Given the description of an element on the screen output the (x, y) to click on. 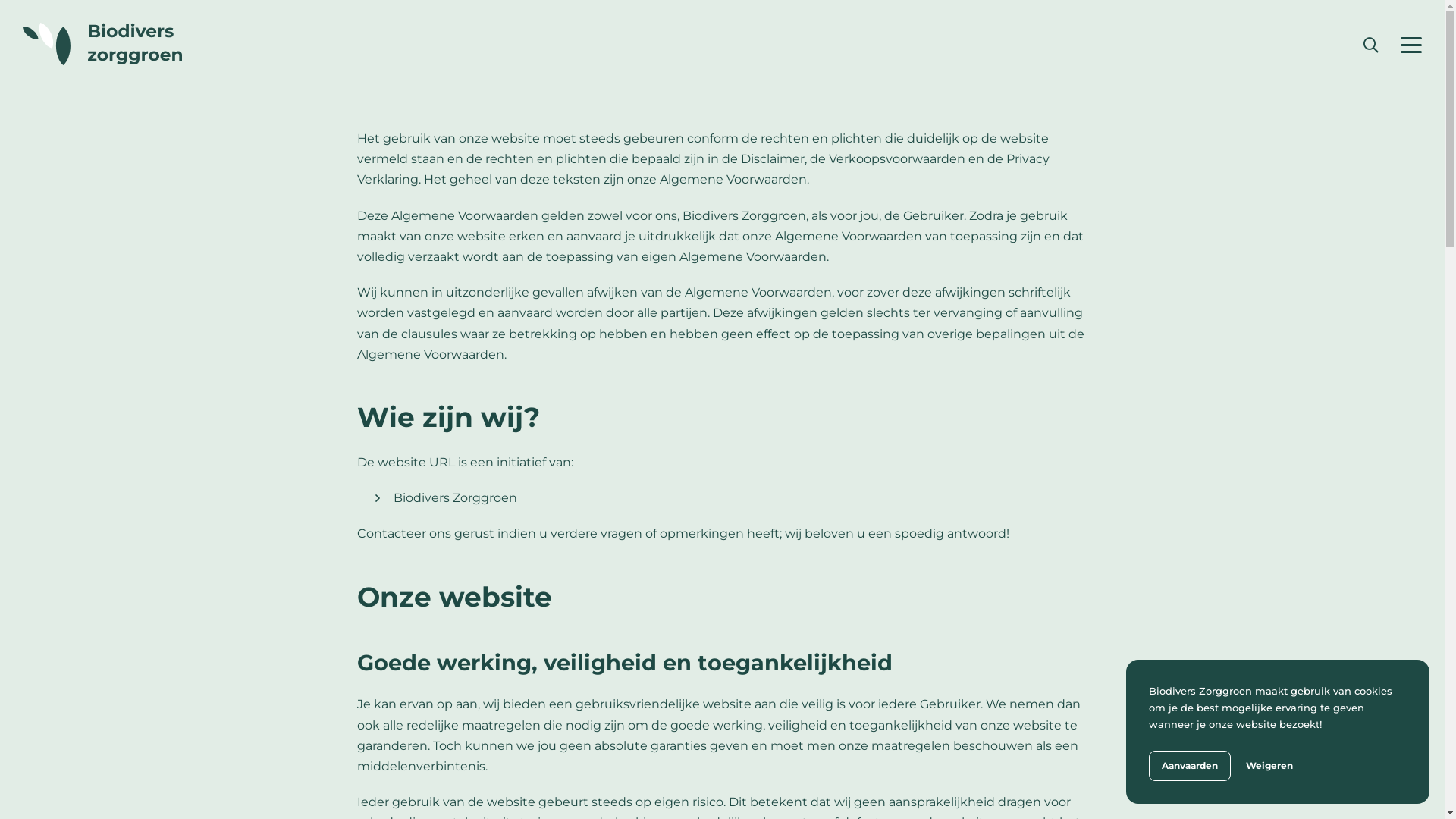
Aanvaarden Element type: text (1189, 765)
Weigeren Element type: text (1268, 765)
